Given the description of an element on the screen output the (x, y) to click on. 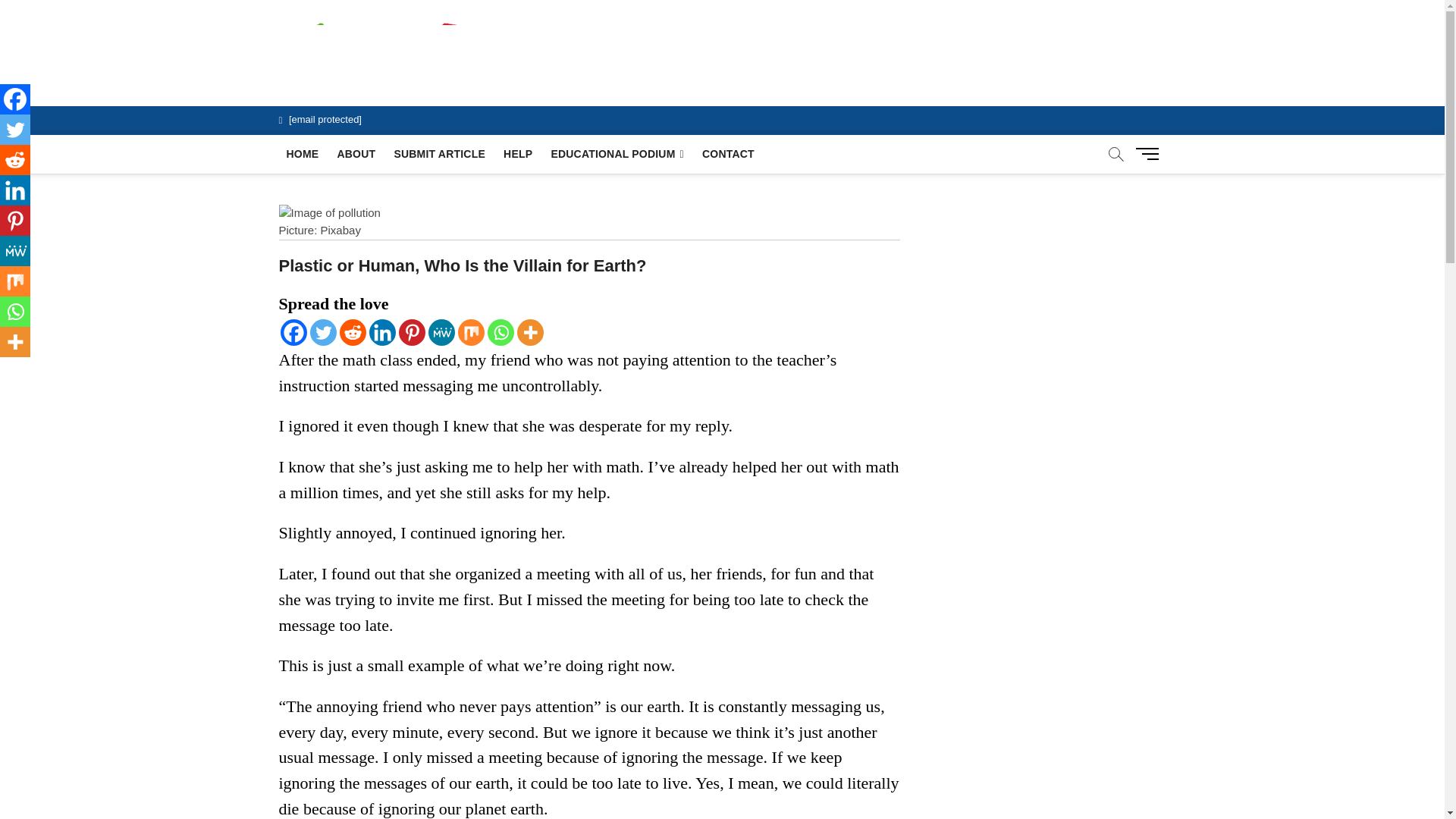
ShiningPens (601, 50)
CONTACT (727, 153)
HOME (302, 153)
ABOUT (355, 153)
Menu Button (1150, 153)
EDUCATIONAL PODIUM (616, 154)
ShiningPens (601, 50)
SUBMIT ARTICLE (439, 153)
Mail Us (320, 119)
HELP (518, 153)
